Given the description of an element on the screen output the (x, y) to click on. 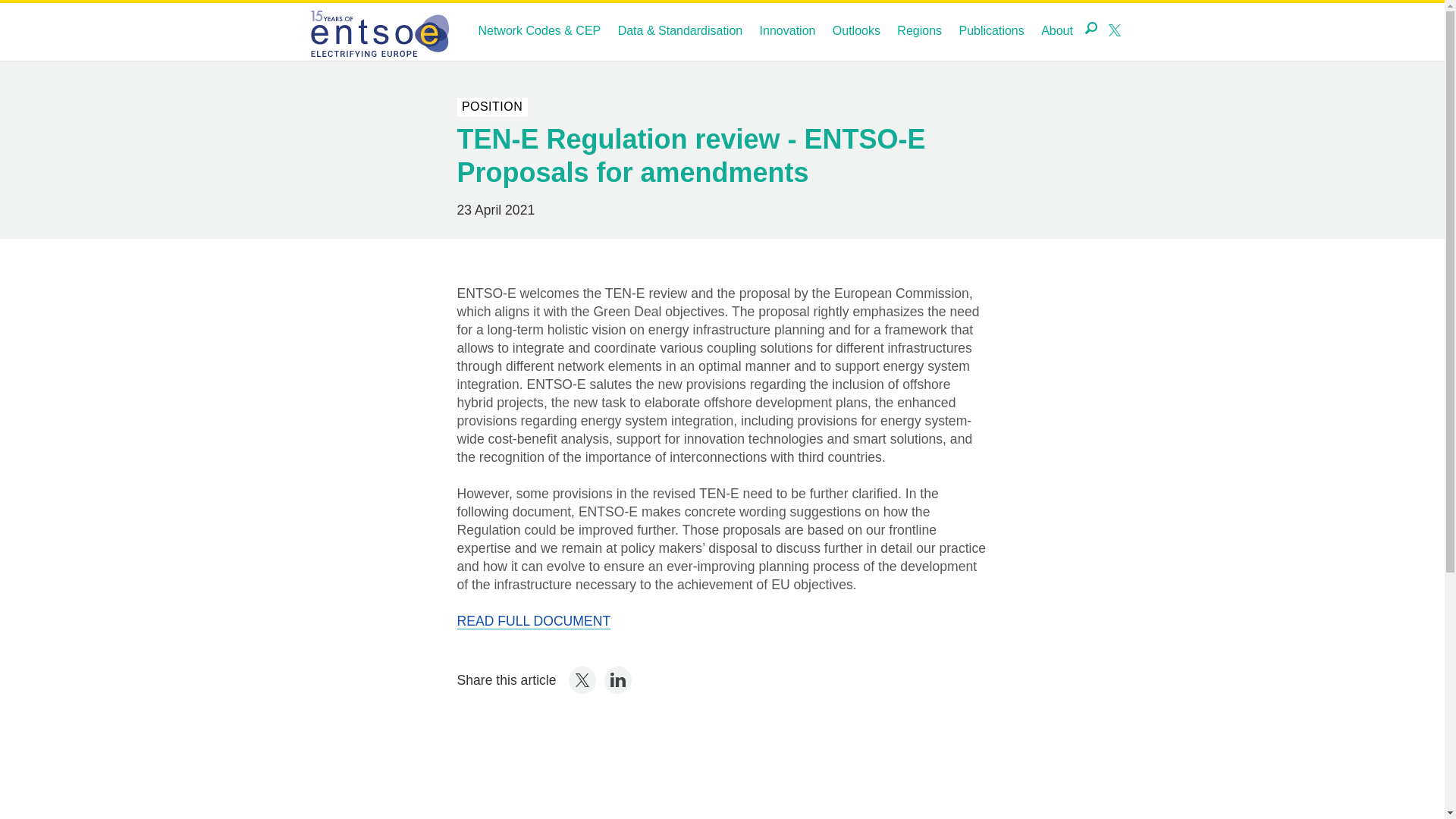
Outlooks (856, 30)
ENTSO-E homepage (378, 31)
ENTSO-E (378, 31)
Innovation (788, 30)
About (1056, 30)
Login (485, 33)
Regions (919, 30)
Publications (990, 30)
